Given the description of an element on the screen output the (x, y) to click on. 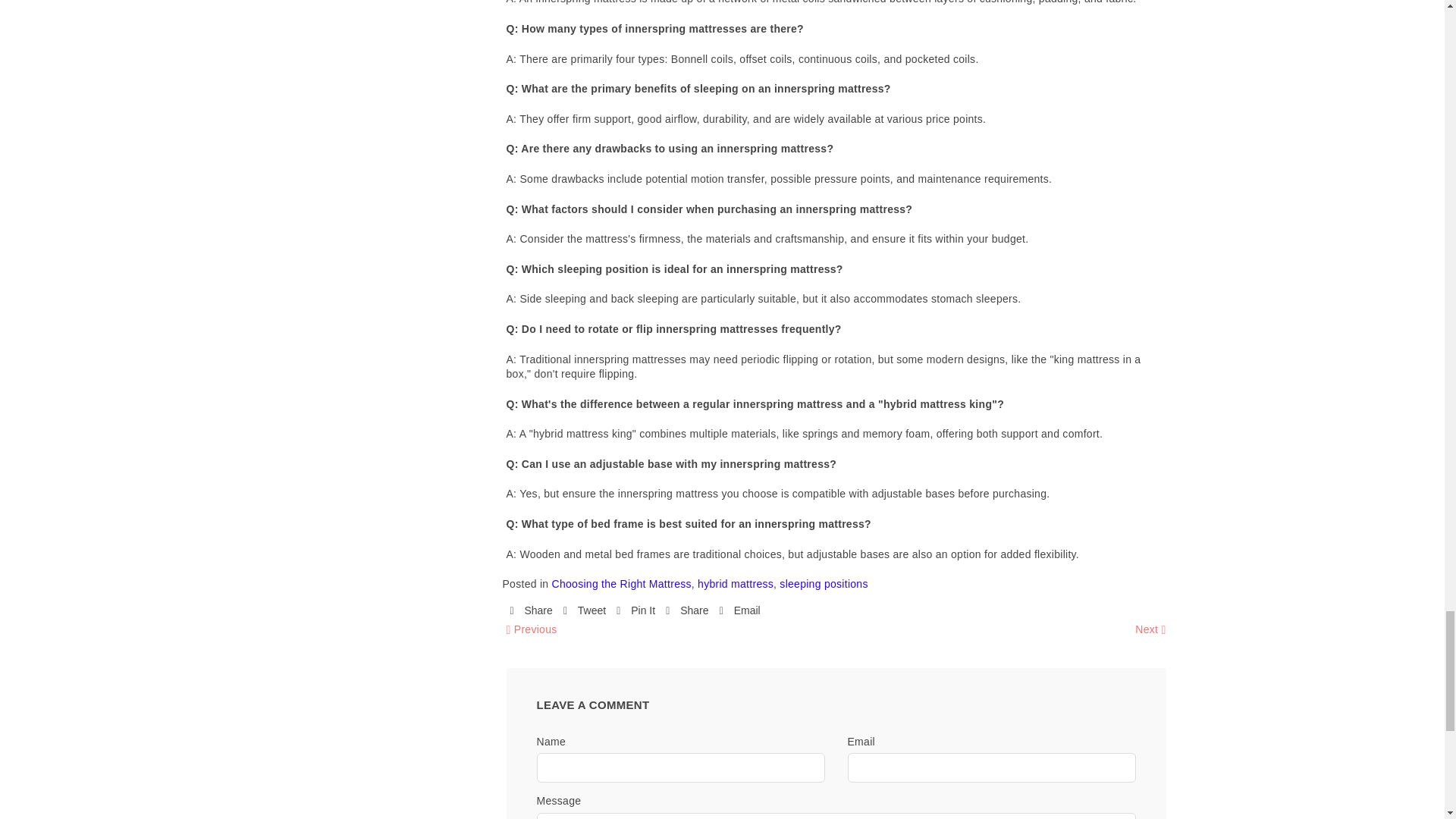
Pin on Pinterest (635, 611)
Share by Email (739, 611)
Tweet on Twitter (584, 611)
Share on Linked In (686, 611)
Share on Facebook (530, 611)
